Given the description of an element on the screen output the (x, y) to click on. 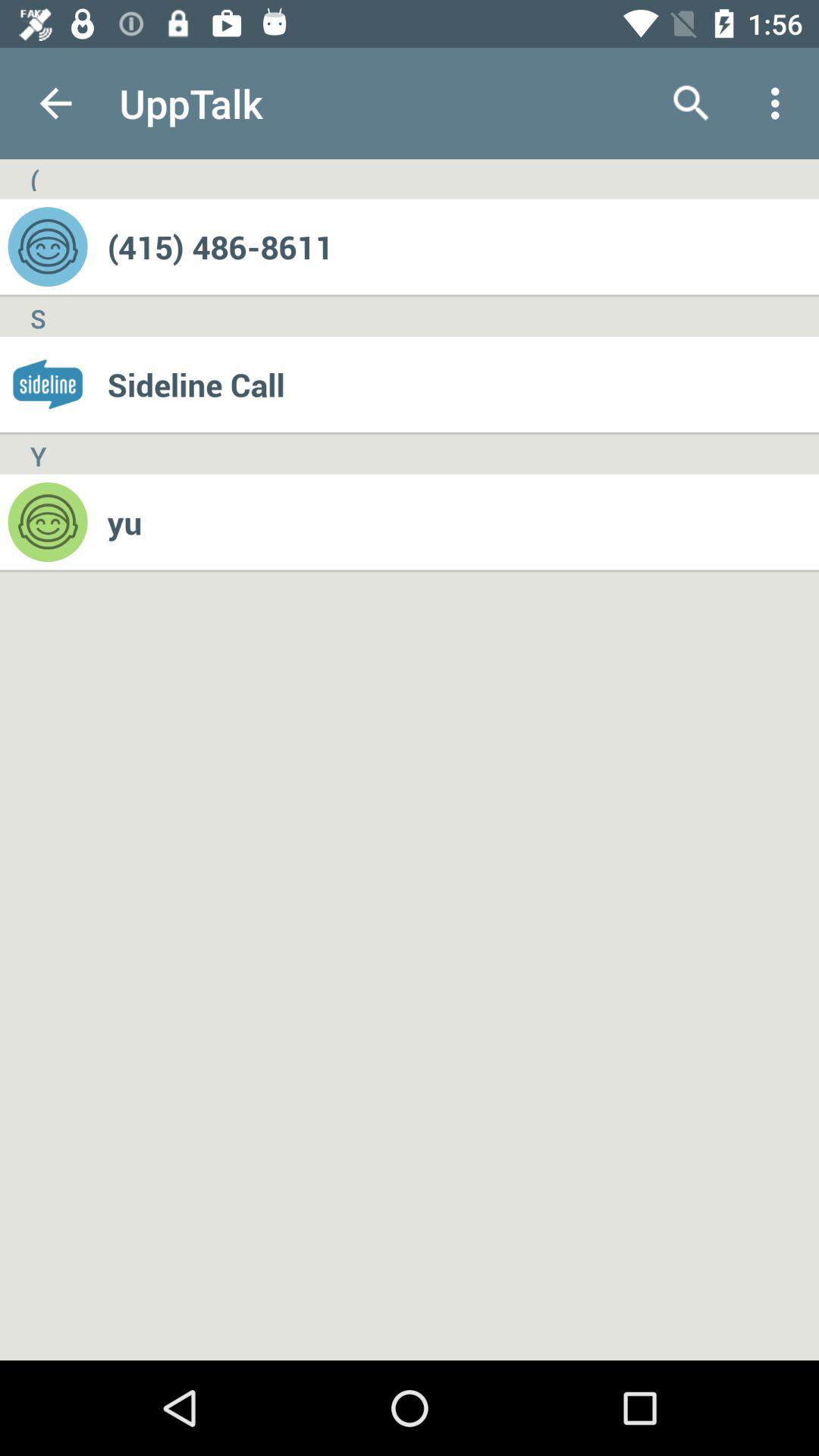
launch icon below sideline call (463, 521)
